Given the description of an element on the screen output the (x, y) to click on. 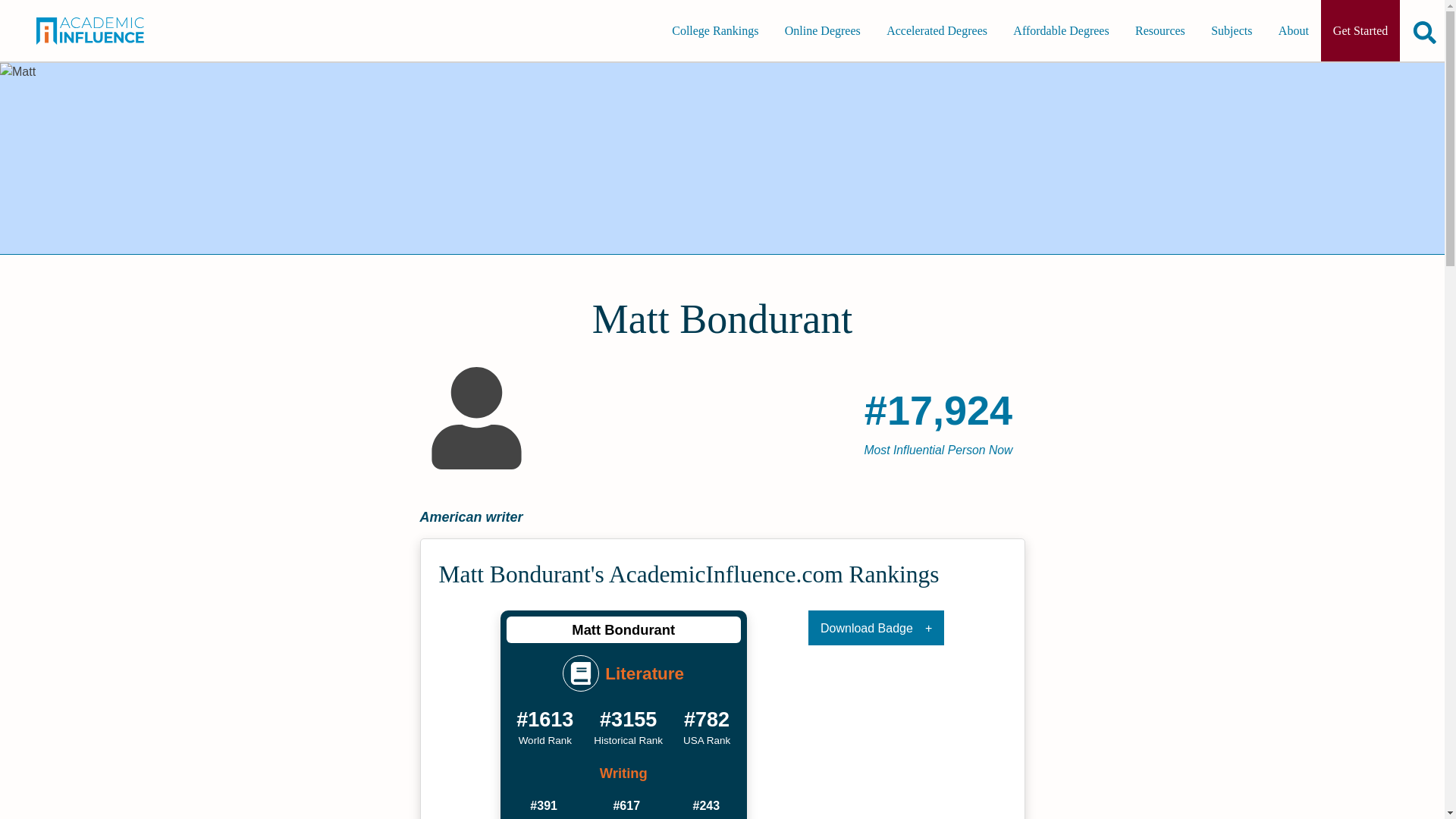
College Rankings (714, 30)
Subjects (1230, 30)
Affordable Degrees (1061, 30)
About (1293, 30)
Accelerated Degrees (936, 30)
Get Started (1359, 30)
Online Degrees (822, 30)
Resources (1159, 30)
